Given the description of an element on the screen output the (x, y) to click on. 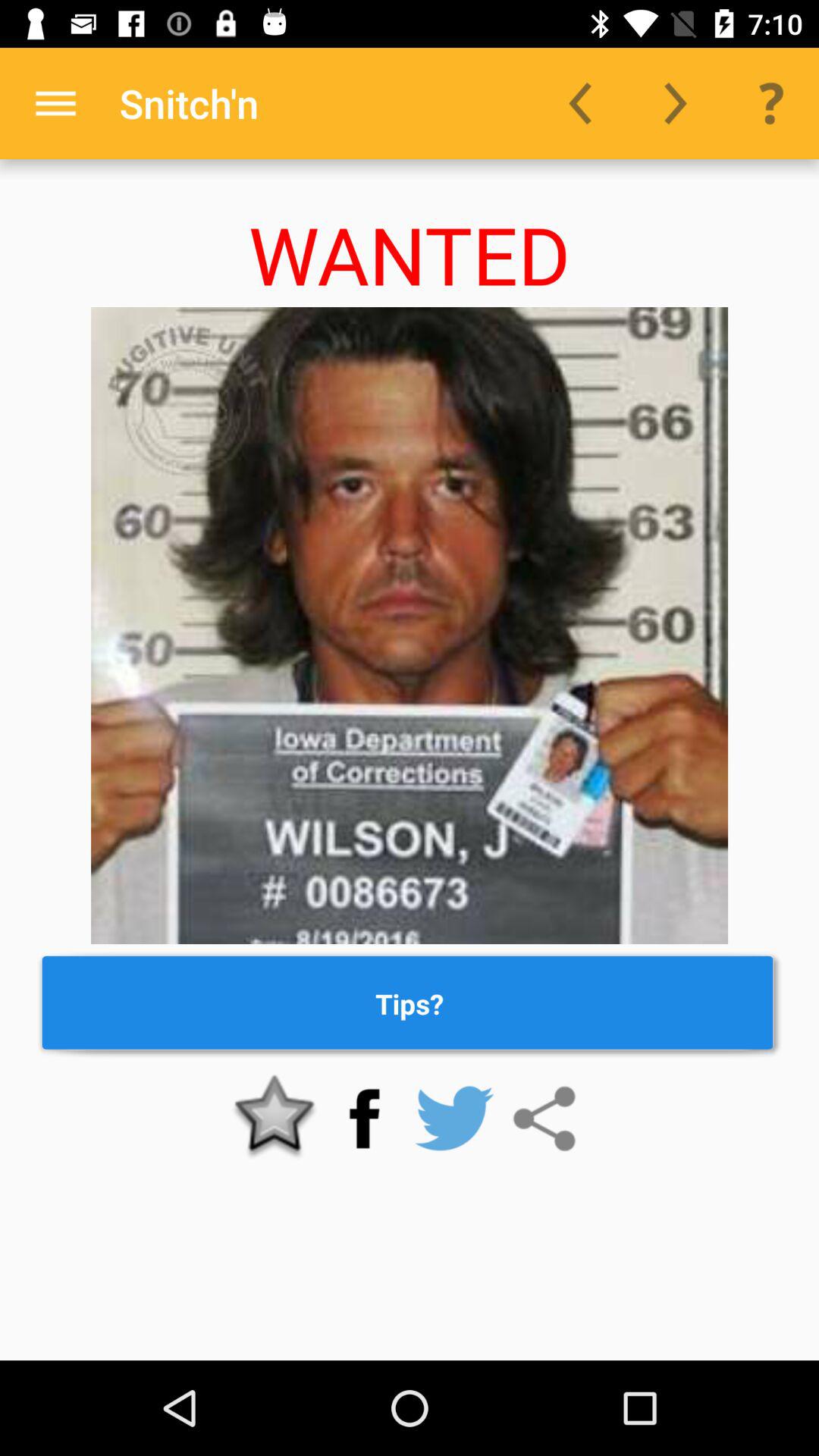
click sharing icon (544, 1118)
